Given the description of an element on the screen output the (x, y) to click on. 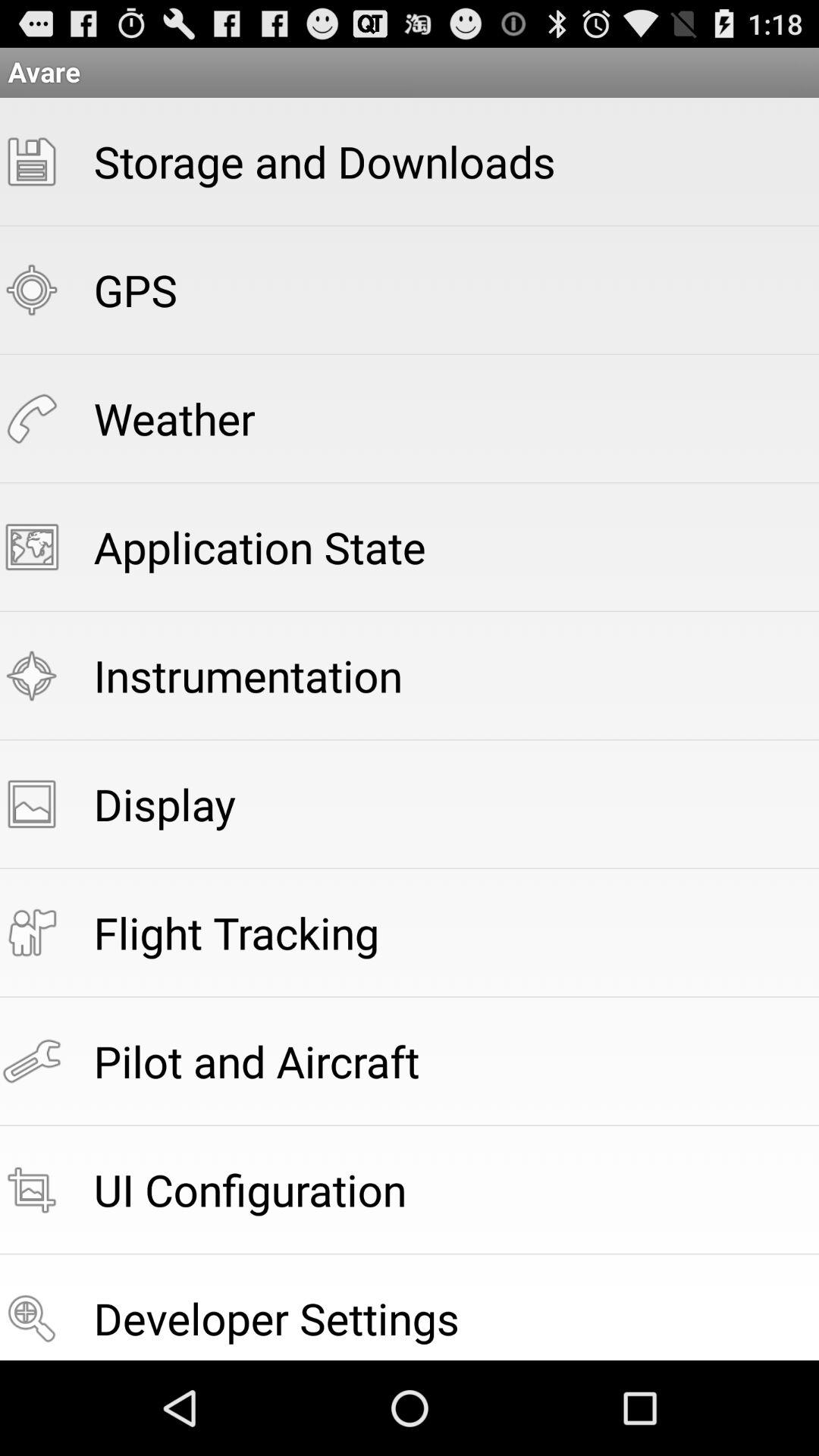
tap the app below the flight tracking icon (256, 1060)
